Given the description of an element on the screen output the (x, y) to click on. 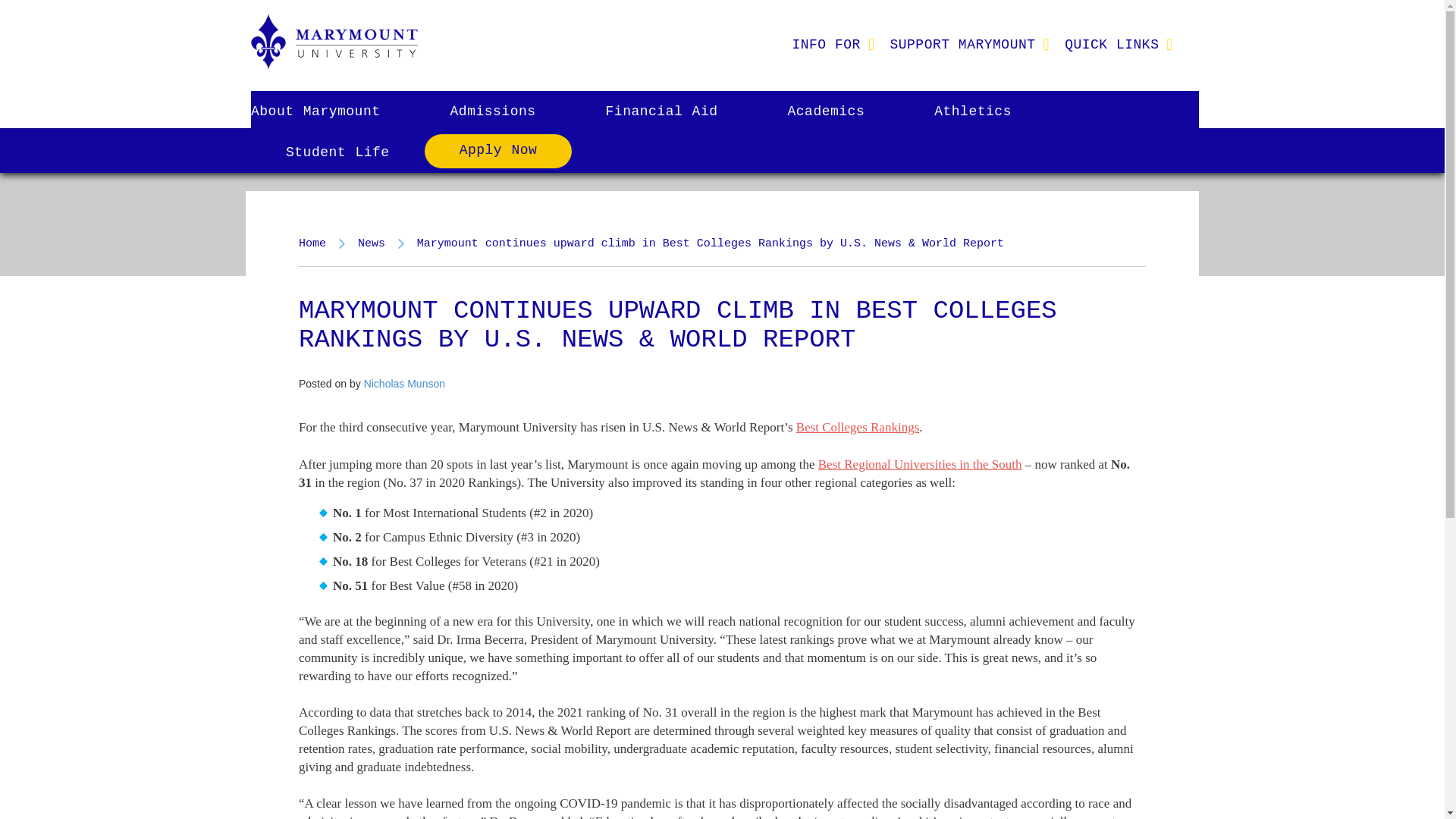
INFO FOR (825, 44)
QUICK LINKS (1111, 44)
About Marymount (332, 110)
SUPPORT MARYMOUNT (962, 44)
